Given the description of an element on the screen output the (x, y) to click on. 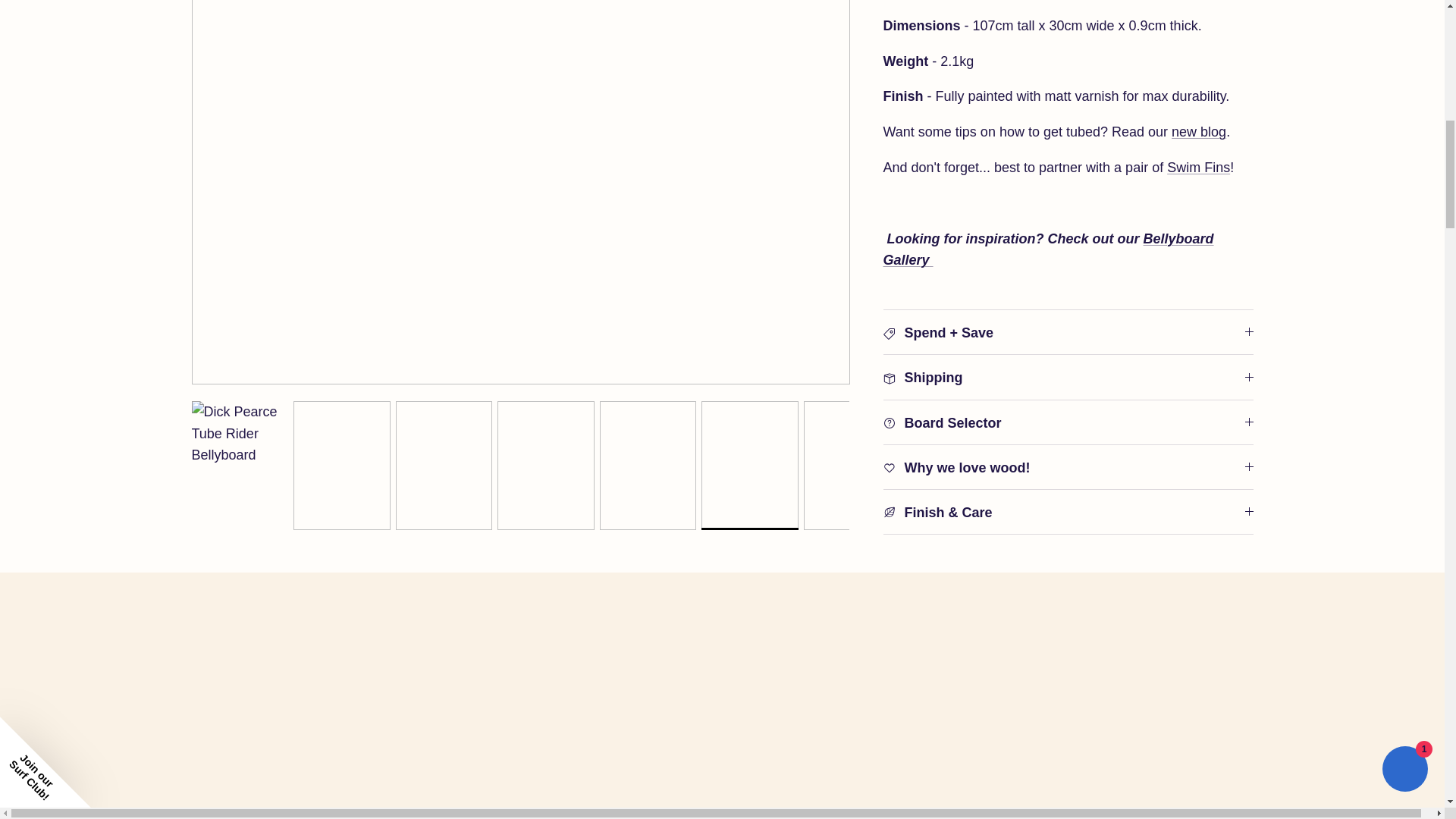
Bellyboard Gallery (1047, 211)
